Given the description of an element on the screen output the (x, y) to click on. 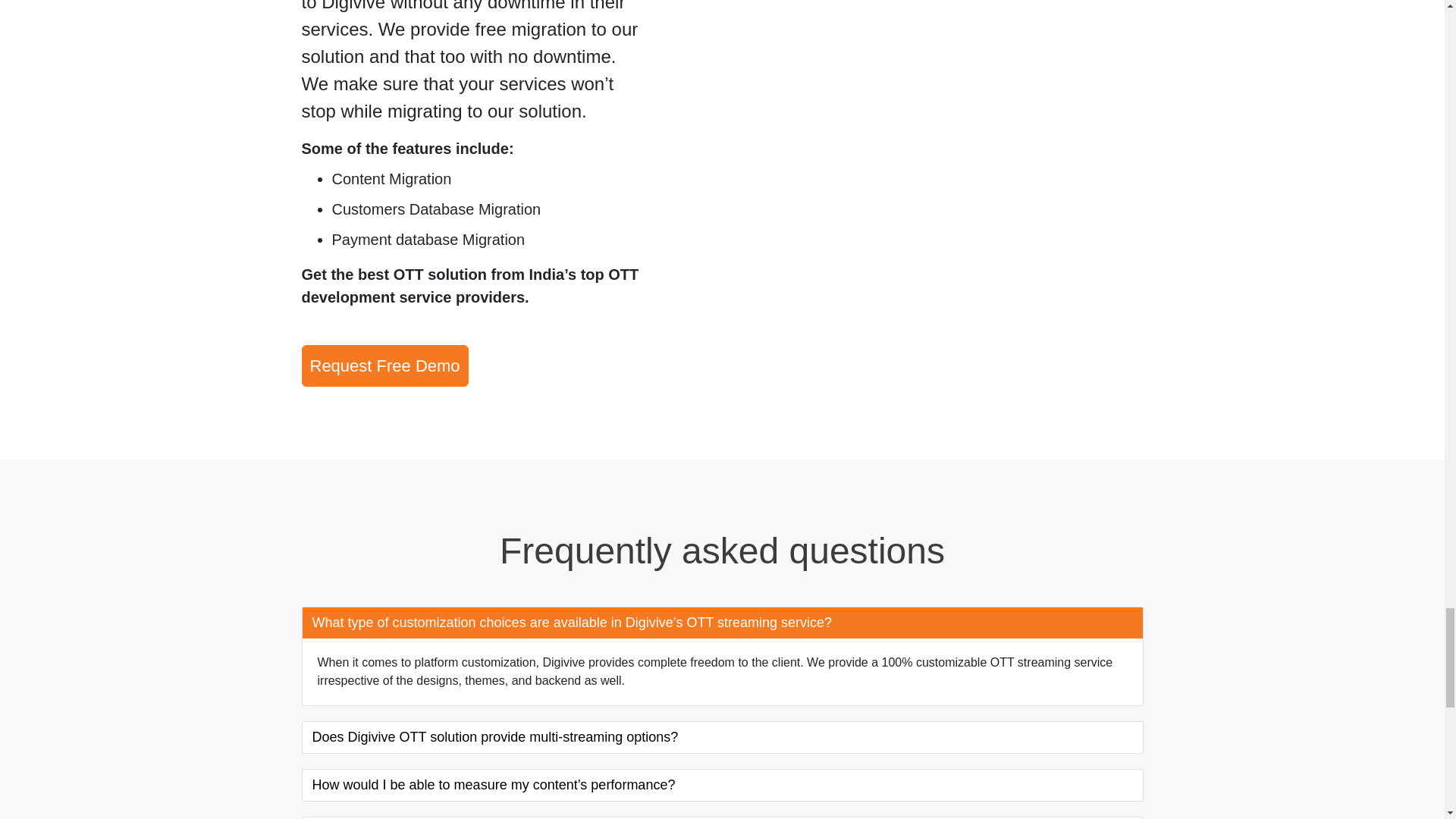
Request Free Demo (384, 365)
Does Digivive OTT solution provide multi-streaming options? (721, 736)
